Given the description of an element on the screen output the (x, y) to click on. 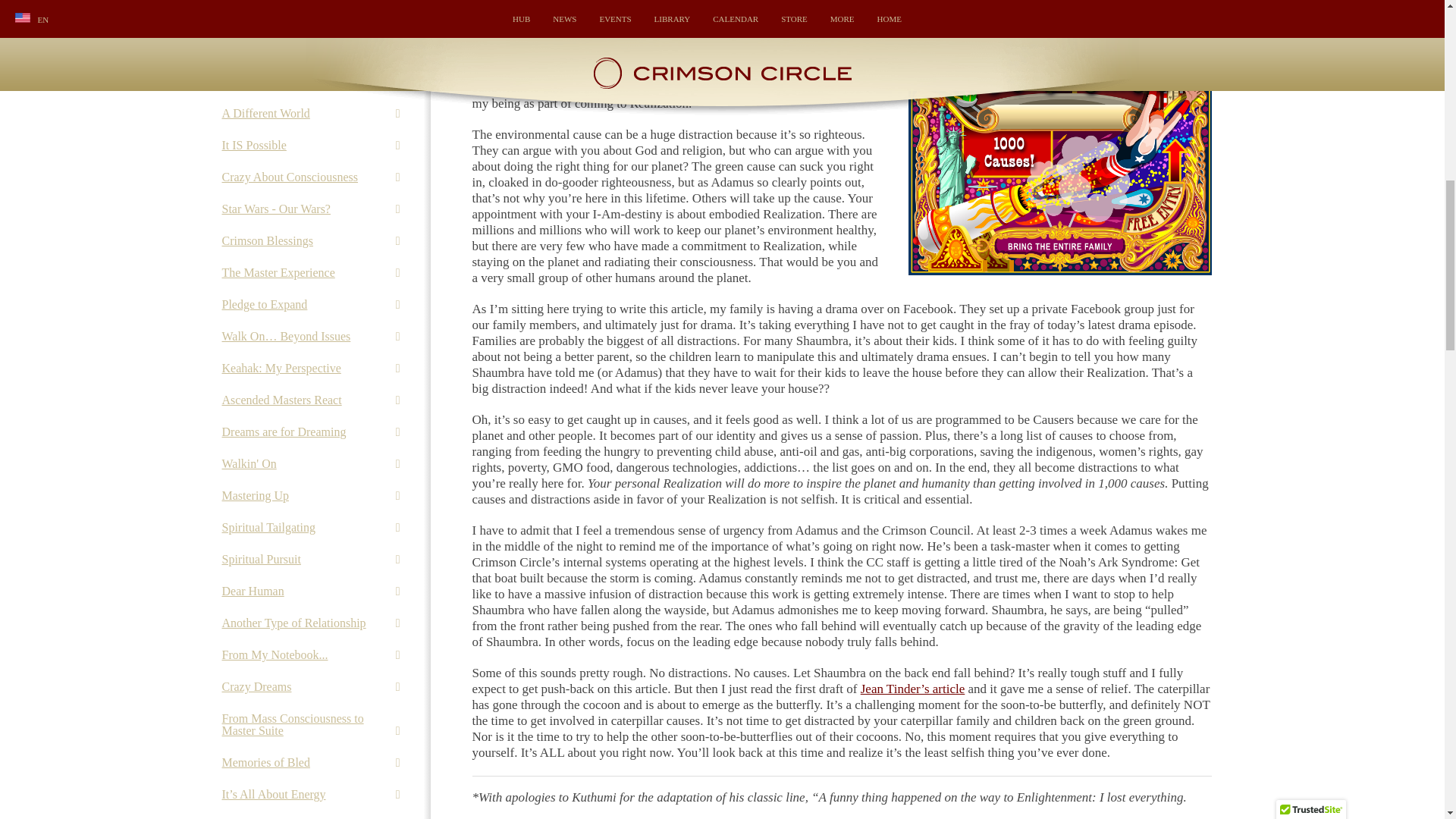
Opens a widget where you can find more information (1386, 1)
TrustedSite Certified (1310, 4)
